Given the description of an element on the screen output the (x, y) to click on. 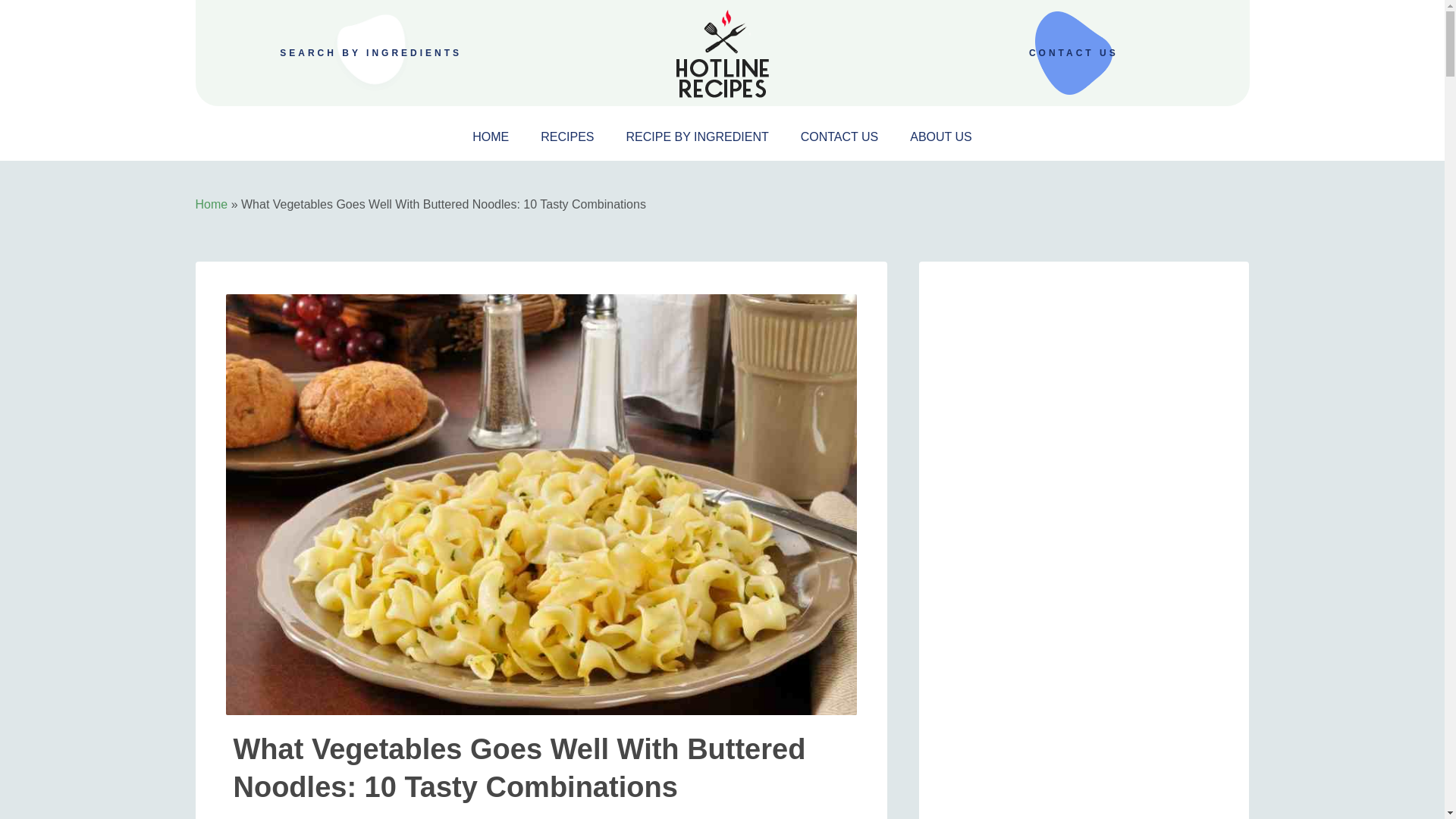
CONTACT US (839, 137)
HOME (490, 137)
Home (211, 204)
ABOUT US (940, 137)
interpreter-icon-19 (722, 52)
RECIPES (566, 137)
CONTACT US (1073, 52)
SEARCH BY INGREDIENTS (370, 52)
RECIPE BY INGREDIENT (697, 137)
